Given the description of an element on the screen output the (x, y) to click on. 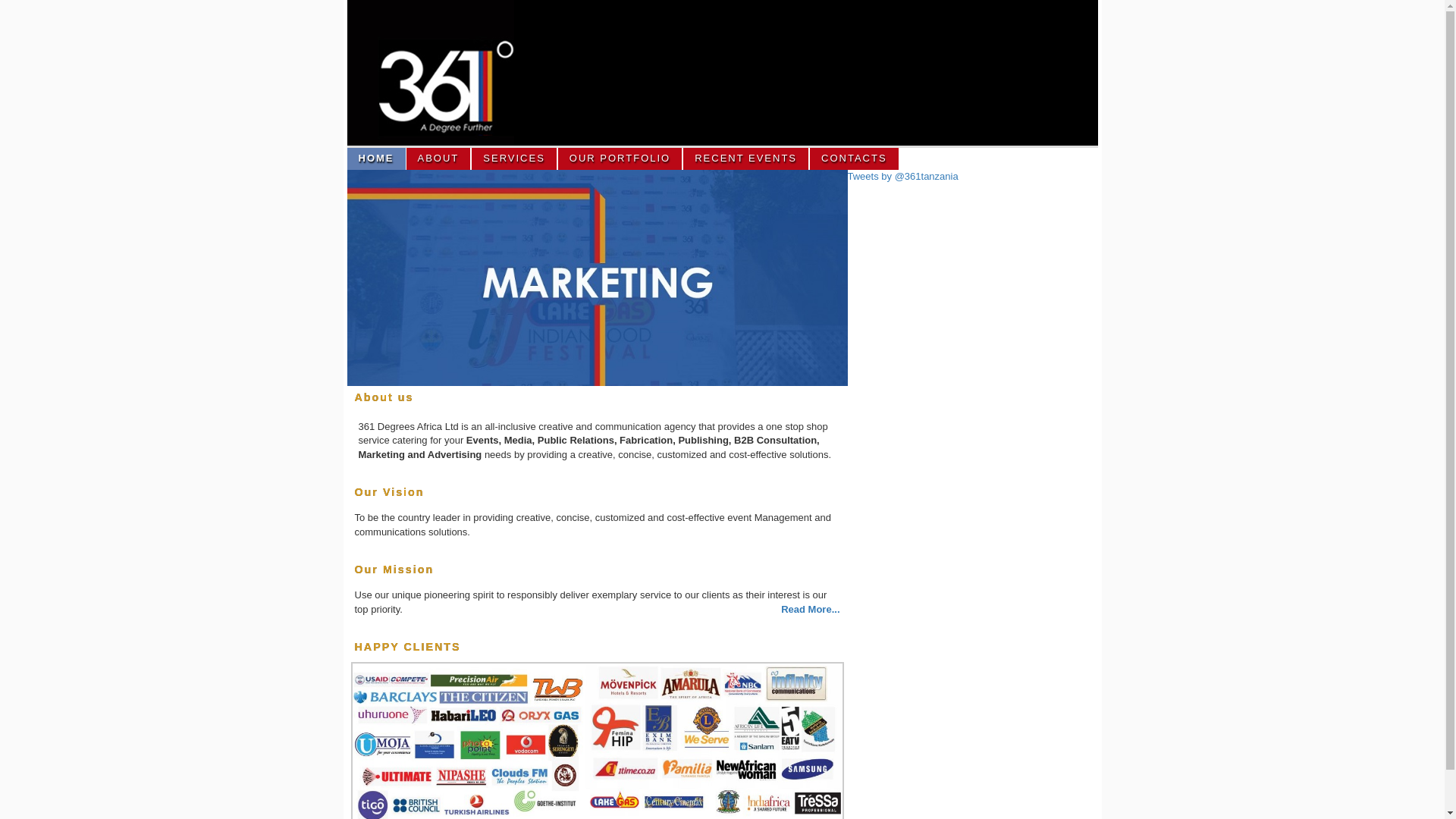
HOME Element type: text (376, 158)
OUR PORTFOLIO Element type: text (620, 158)
RECENT EVENTS Element type: text (746, 158)
ABOUT Element type: text (439, 158)
Tweets by @361tanzania Element type: text (902, 176)
SERVICES Element type: text (514, 158)
CONTACTS Element type: text (854, 158)
